Given the description of an element on the screen output the (x, y) to click on. 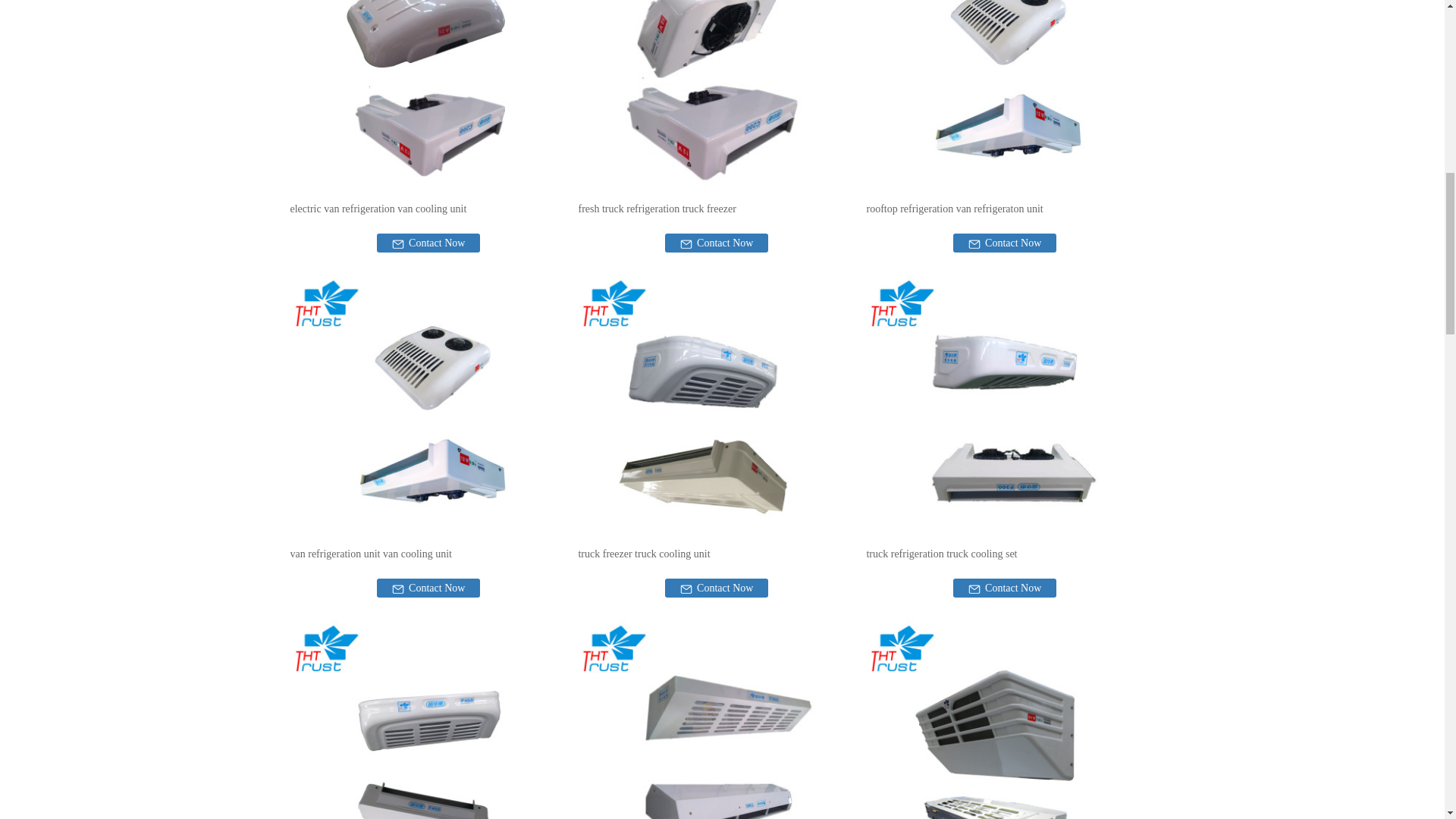
Contact Now (428, 242)
Contact Now (716, 587)
Contact Now (716, 242)
Contact Now (428, 587)
Contact Now (1005, 242)
Contact Now (1005, 587)
